Given the description of an element on the screen output the (x, y) to click on. 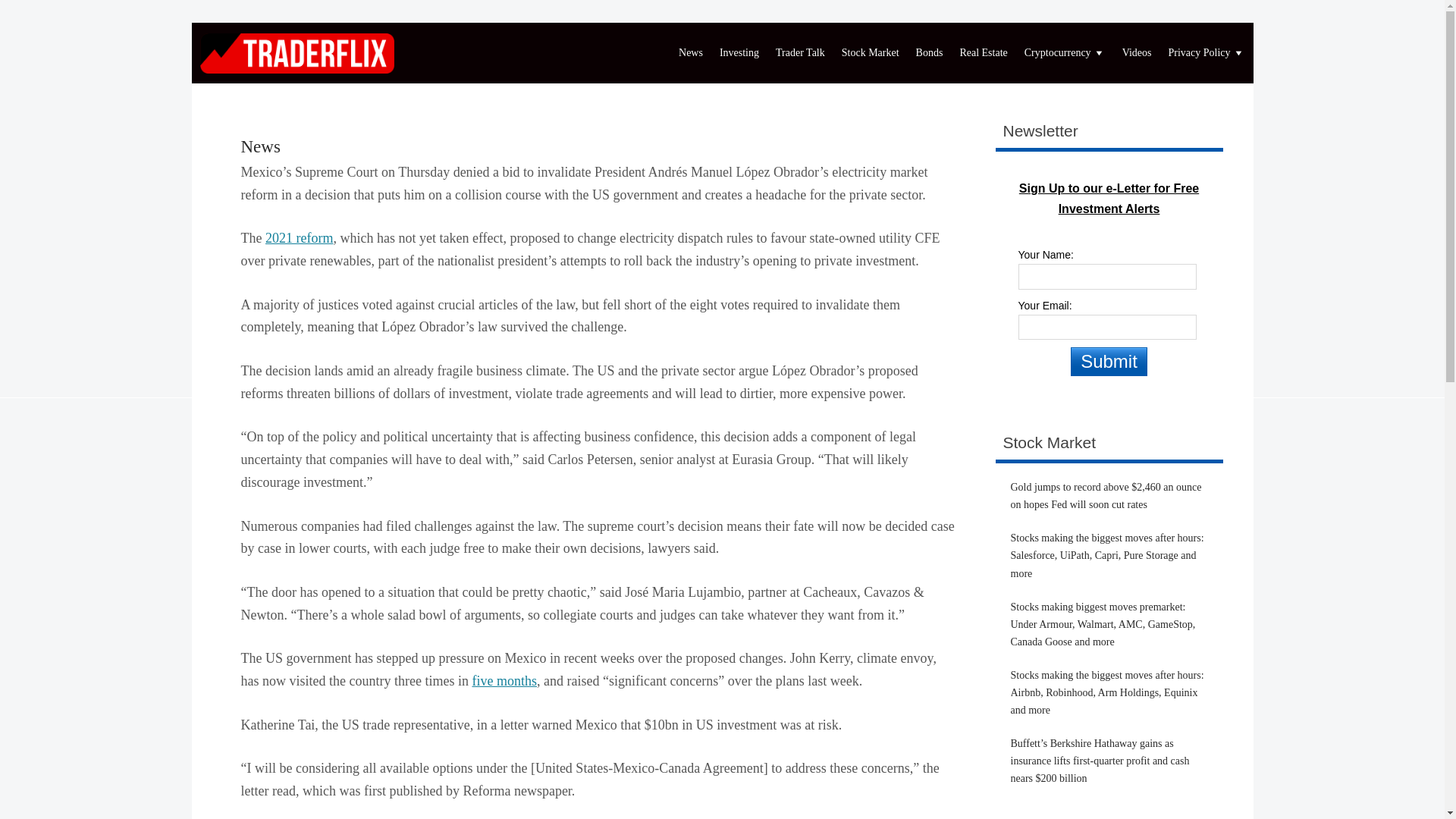
Trader Talk (799, 52)
Submit (1108, 361)
Cryptocurrency (1064, 52)
News (261, 146)
2021 reform (298, 237)
Real Estate (982, 52)
News (261, 146)
Privacy Policy (1205, 52)
five months (504, 680)
Stock Market (869, 52)
Investing (739, 52)
